Given the description of an element on the screen output the (x, y) to click on. 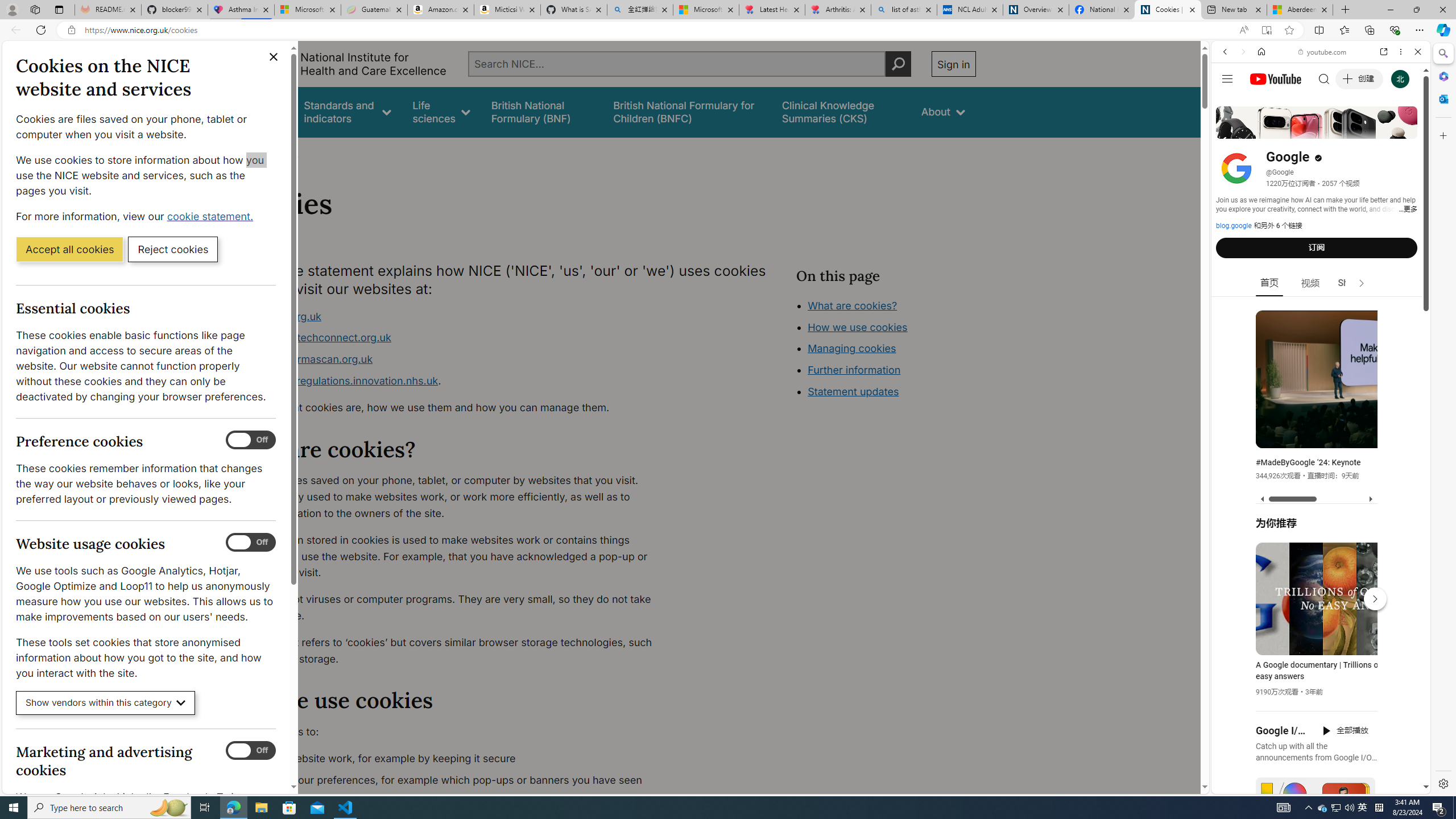
Aberdeen, Hong Kong SAR hourly forecast | Microsoft Weather (1300, 9)
www.ukpharmascan.org.uk (452, 359)
Guidance (260, 111)
Search Filter, WEB (1230, 129)
Search Filter, Search Tools (1350, 129)
Life sciences (440, 111)
YouTube - YouTube (1315, 560)
list of asthma inhalers uk - Search (904, 9)
